Given the description of an element on the screen output the (x, y) to click on. 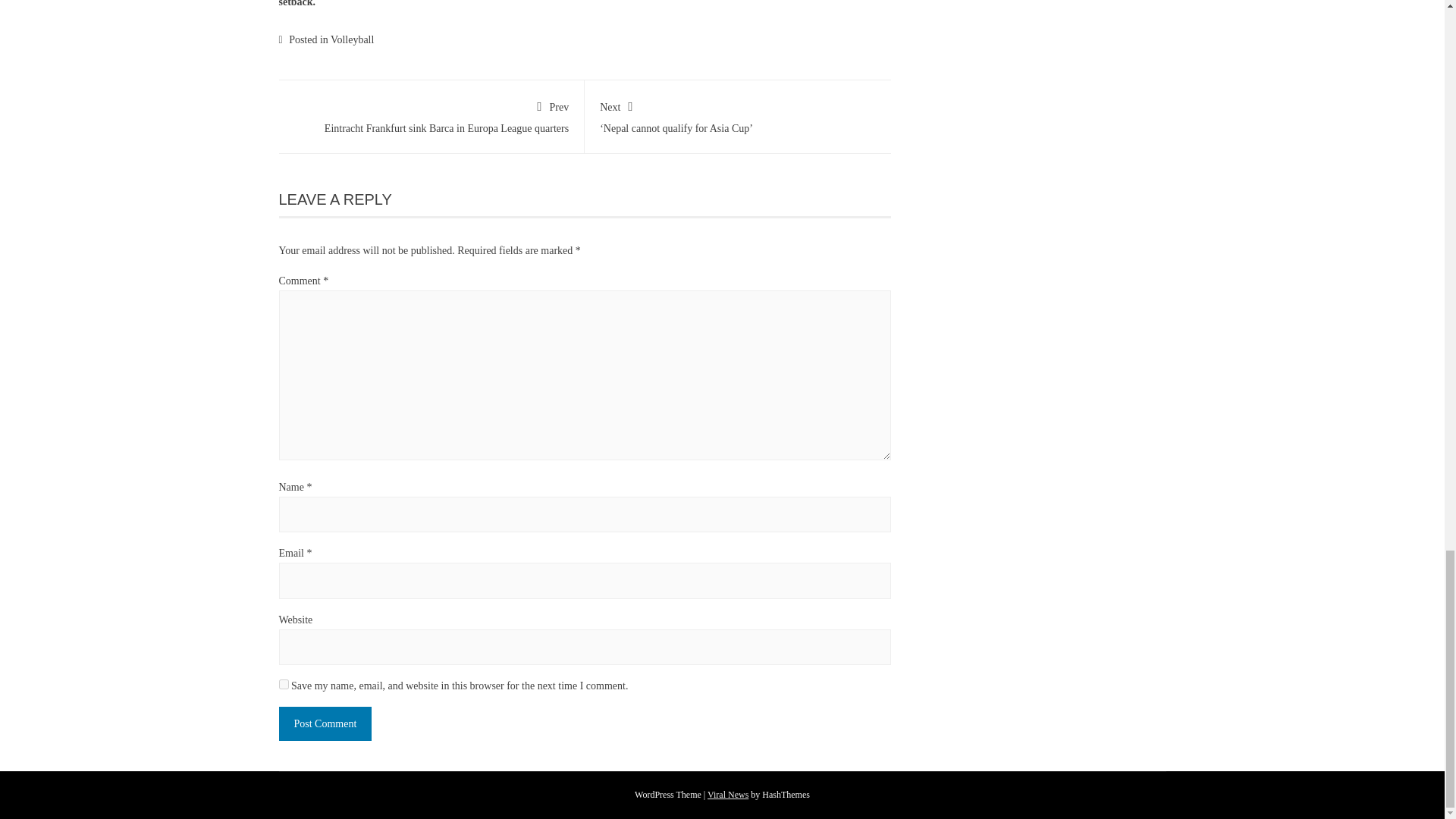
yes (283, 684)
Download Viral News (727, 794)
Post Comment (325, 723)
